Given the description of an element on the screen output the (x, y) to click on. 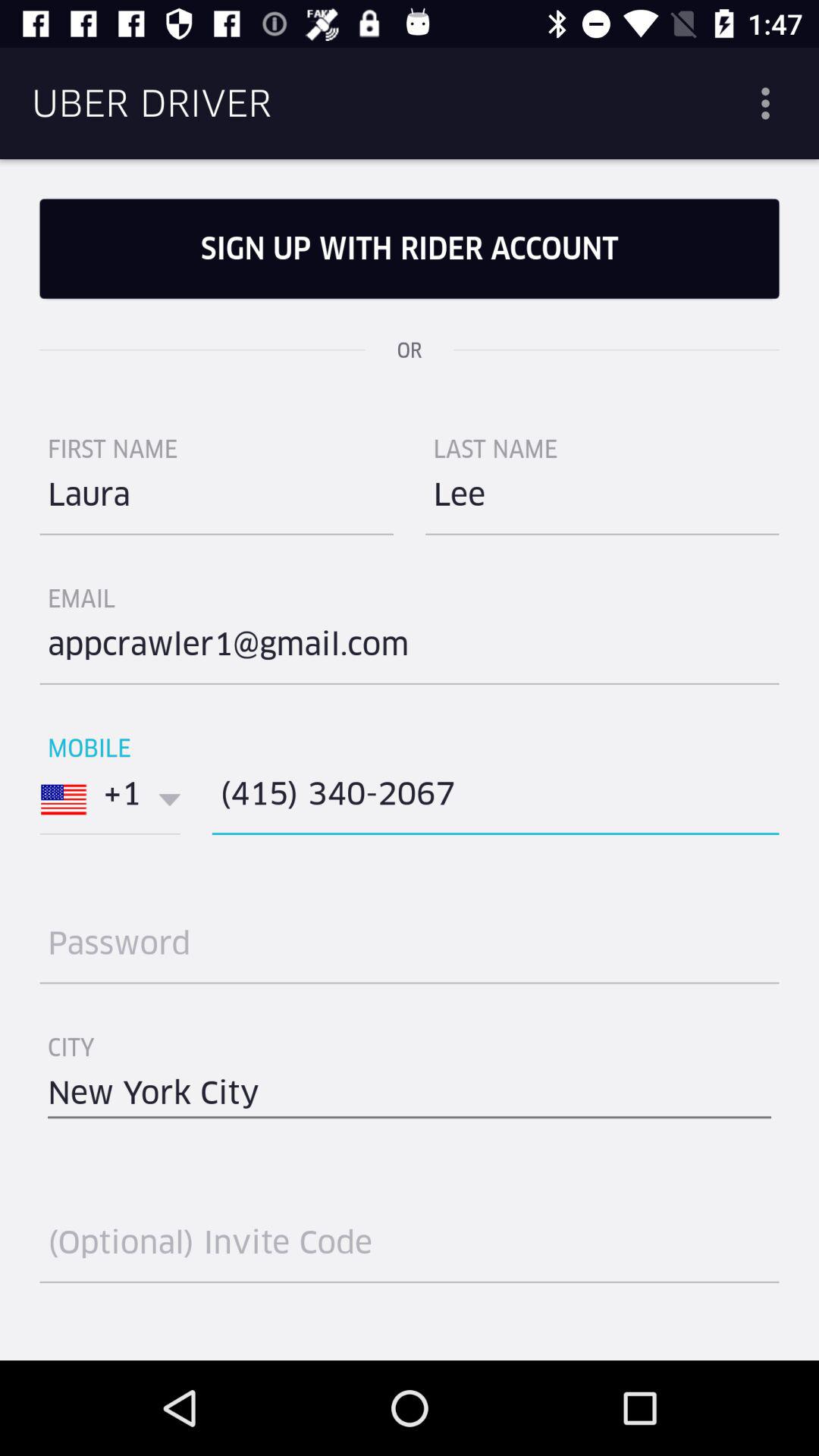
type password (409, 949)
